Given the description of an element on the screen output the (x, y) to click on. 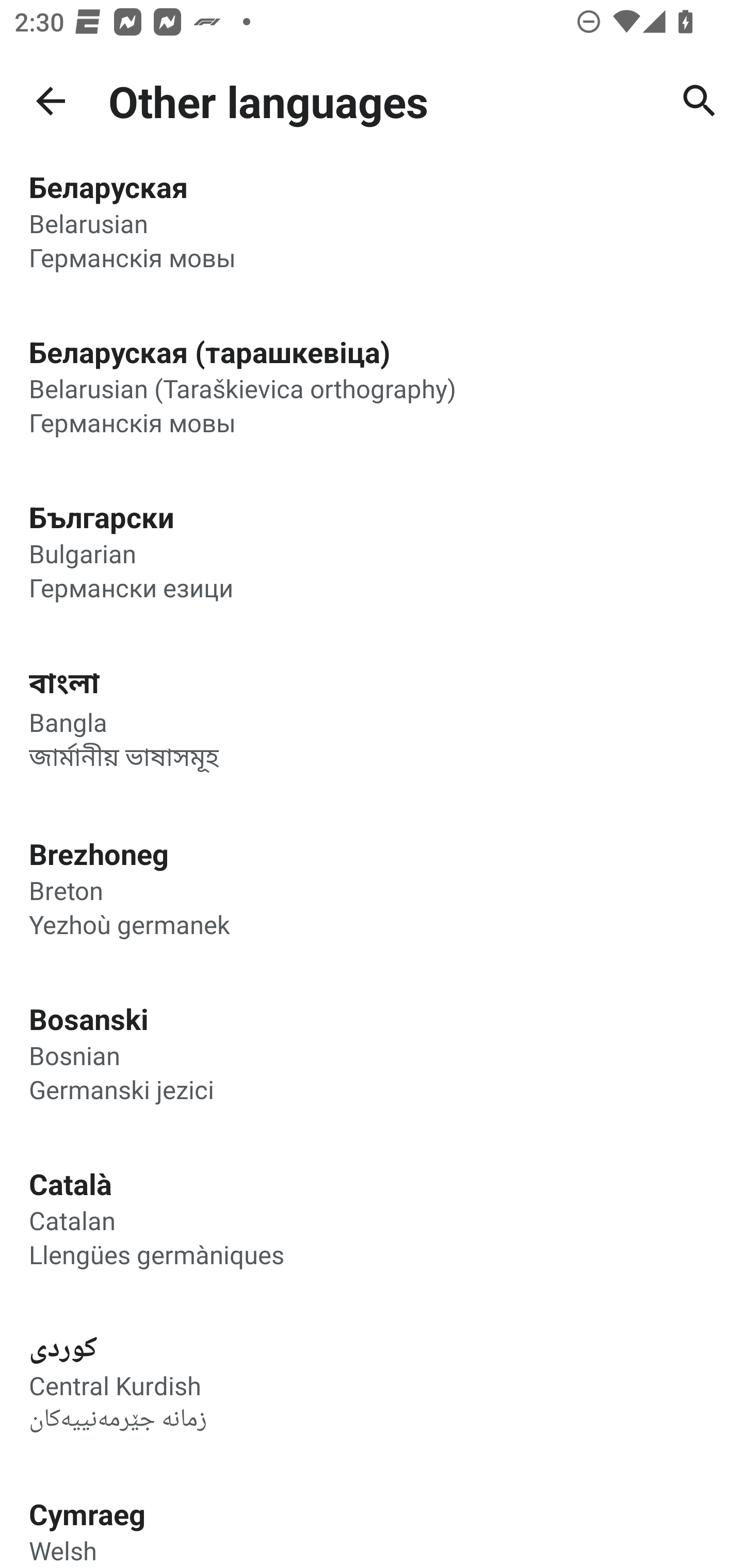
Navigate up (50, 101)
Search for a language (699, 101)
Беларуская Belarusian Германскія мовы (371, 230)
Български Bulgarian Германски езици (371, 550)
বাংলা Bangla জার্মানীয় ভাষাসমূহ (371, 718)
Brezhoneg Breton Yezhoù germanek (371, 887)
Bosanski Bosnian Germanski jezici (371, 1052)
Català Catalan Llengües germàniques (371, 1217)
کوردی Central Kurdish زمانە جێرمەنییەکان (371, 1382)
Cymraeg Welsh Ieithoedd Germanaidd (371, 1517)
